Given the description of an element on the screen output the (x, y) to click on. 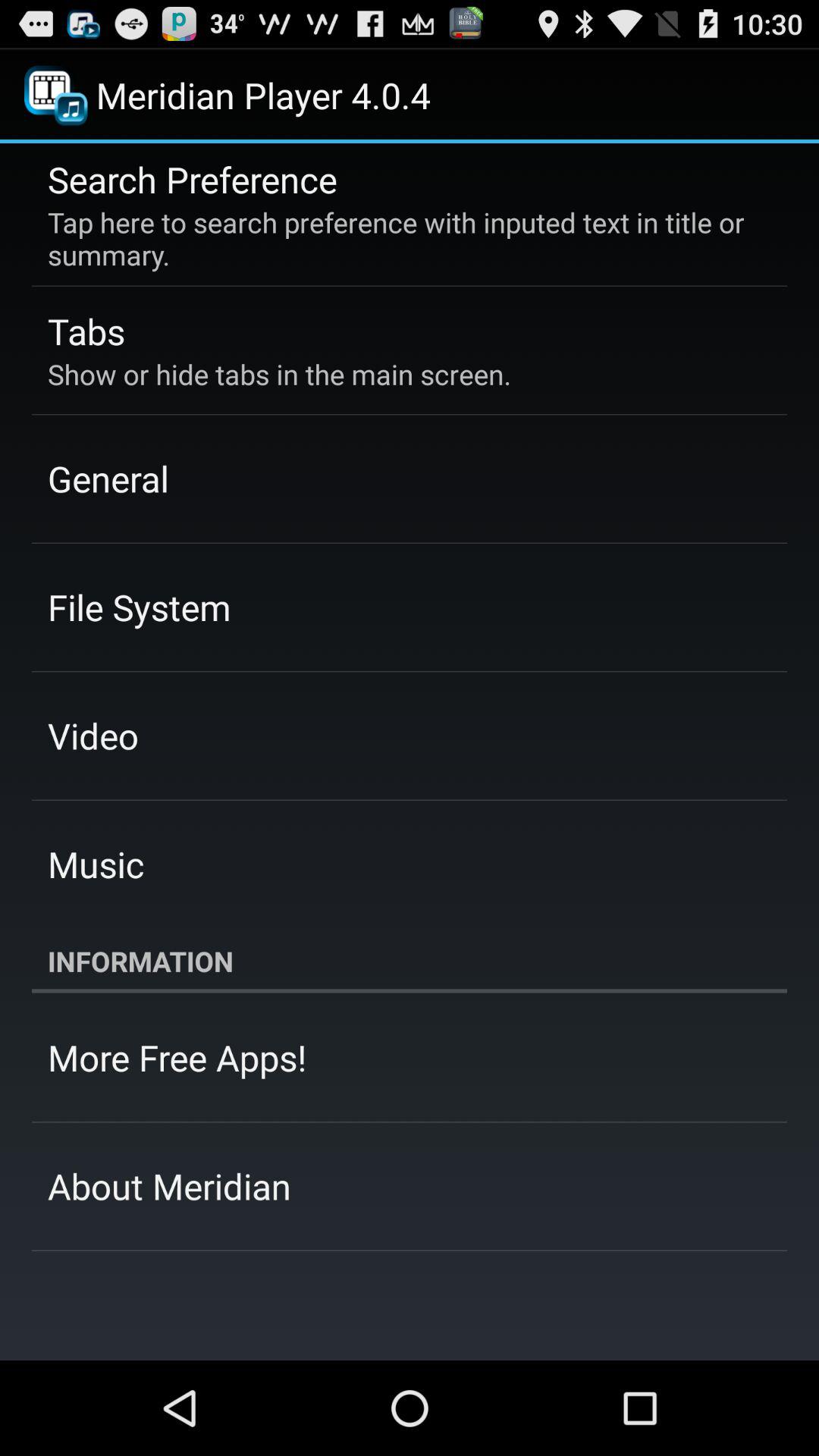
scroll until video (92, 735)
